Given the description of an element on the screen output the (x, y) to click on. 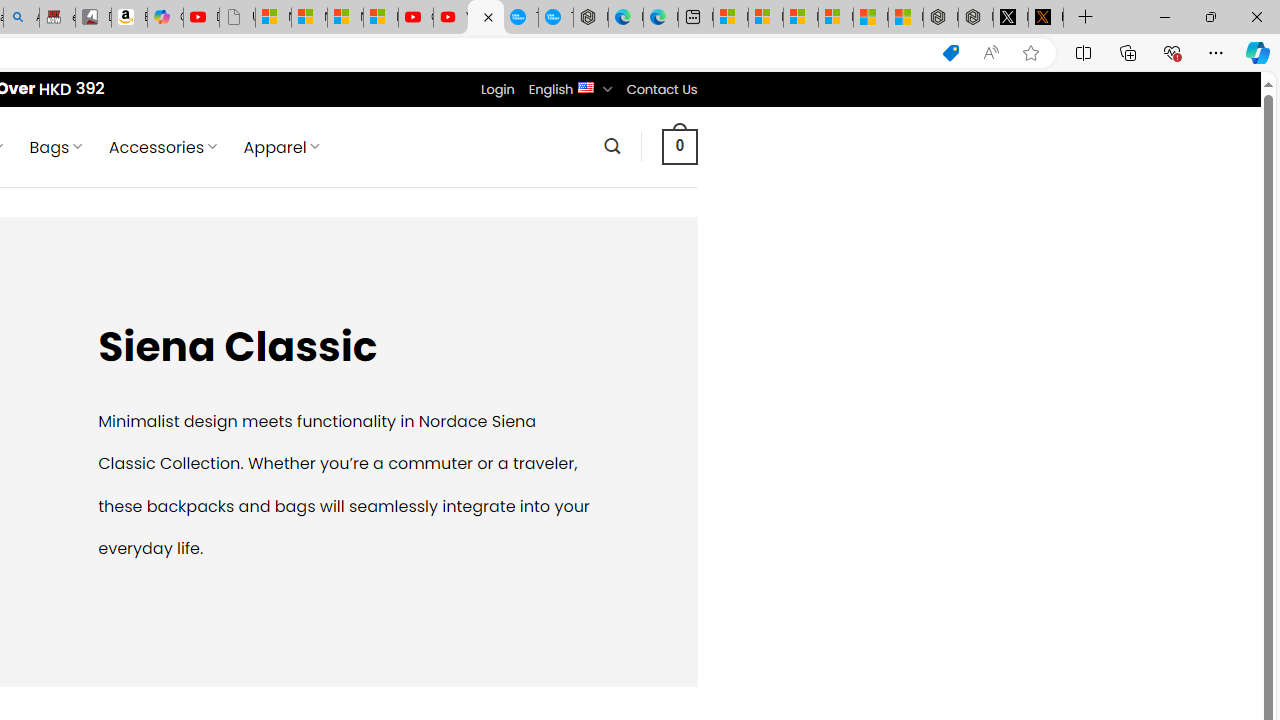
Nordace (@NordaceOfficial) / X (1010, 17)
This site has coupons! Shopping in Microsoft Edge (950, 53)
Nordace - Nordace has arrived Hong Kong (590, 17)
  0   (679, 146)
Microsoft account | Microsoft Account Privacy Settings (765, 17)
Gloom - YouTube (415, 17)
